Given the description of an element on the screen output the (x, y) to click on. 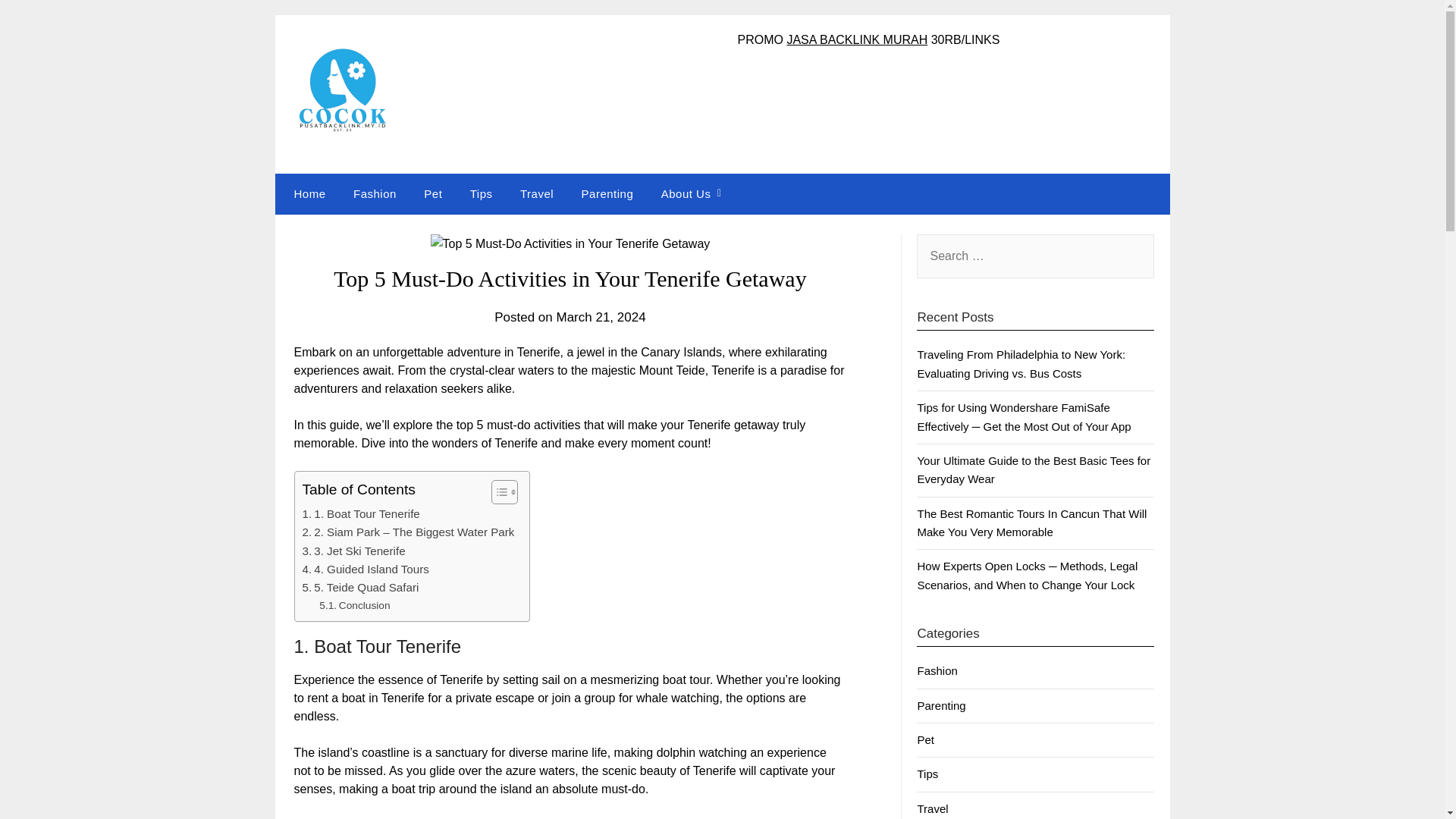
Travel (537, 193)
Travel (932, 808)
1. Boat Tour Tenerife (360, 514)
Conclusion (354, 605)
3. Jet Ski Tenerife (352, 551)
JASA BACKLINK MURAH (856, 39)
Fashion (374, 193)
Top 5 Must-Do Activities in Your Tenerife Getaway (570, 243)
Your Ultimate Guide to the Best Basic Tees for Everyday Wear (1033, 469)
4. Guided Island Tours (364, 569)
5. Teide Quad Safari (360, 587)
Pet (925, 739)
Fashion (936, 670)
3. Jet Ski Tenerife (352, 551)
